Given the description of an element on the screen output the (x, y) to click on. 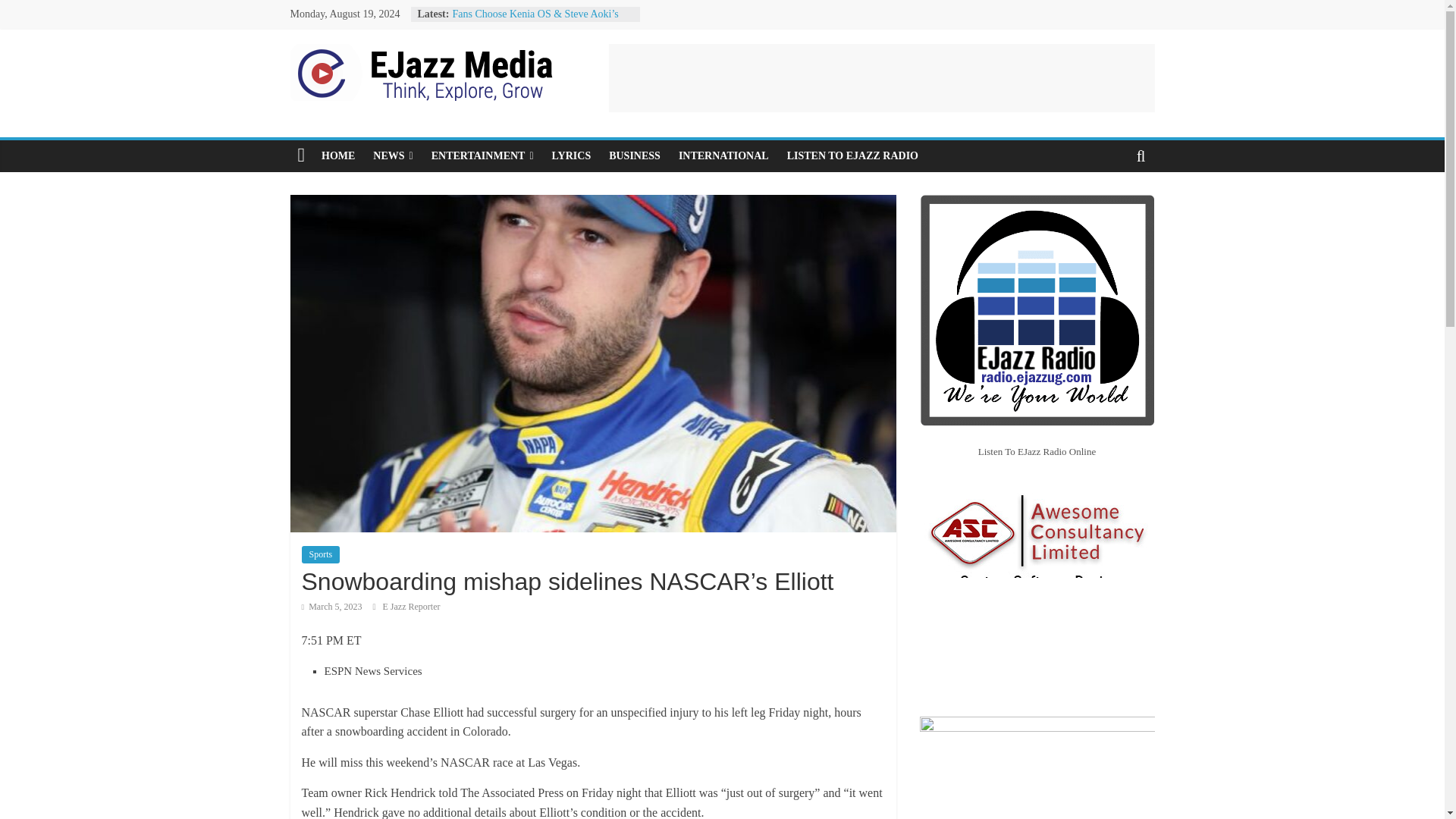
2:46 am (331, 606)
E Jazz Reporter (411, 606)
LISTEN TO EJAZZ RADIO (852, 155)
NEWS (393, 155)
E Jazz Reporter (411, 606)
BUSINESS (634, 155)
ENTERTAINMENT (482, 155)
Sports (320, 554)
INTERNATIONAL (723, 155)
HOME (338, 155)
